Given the description of an element on the screen output the (x, y) to click on. 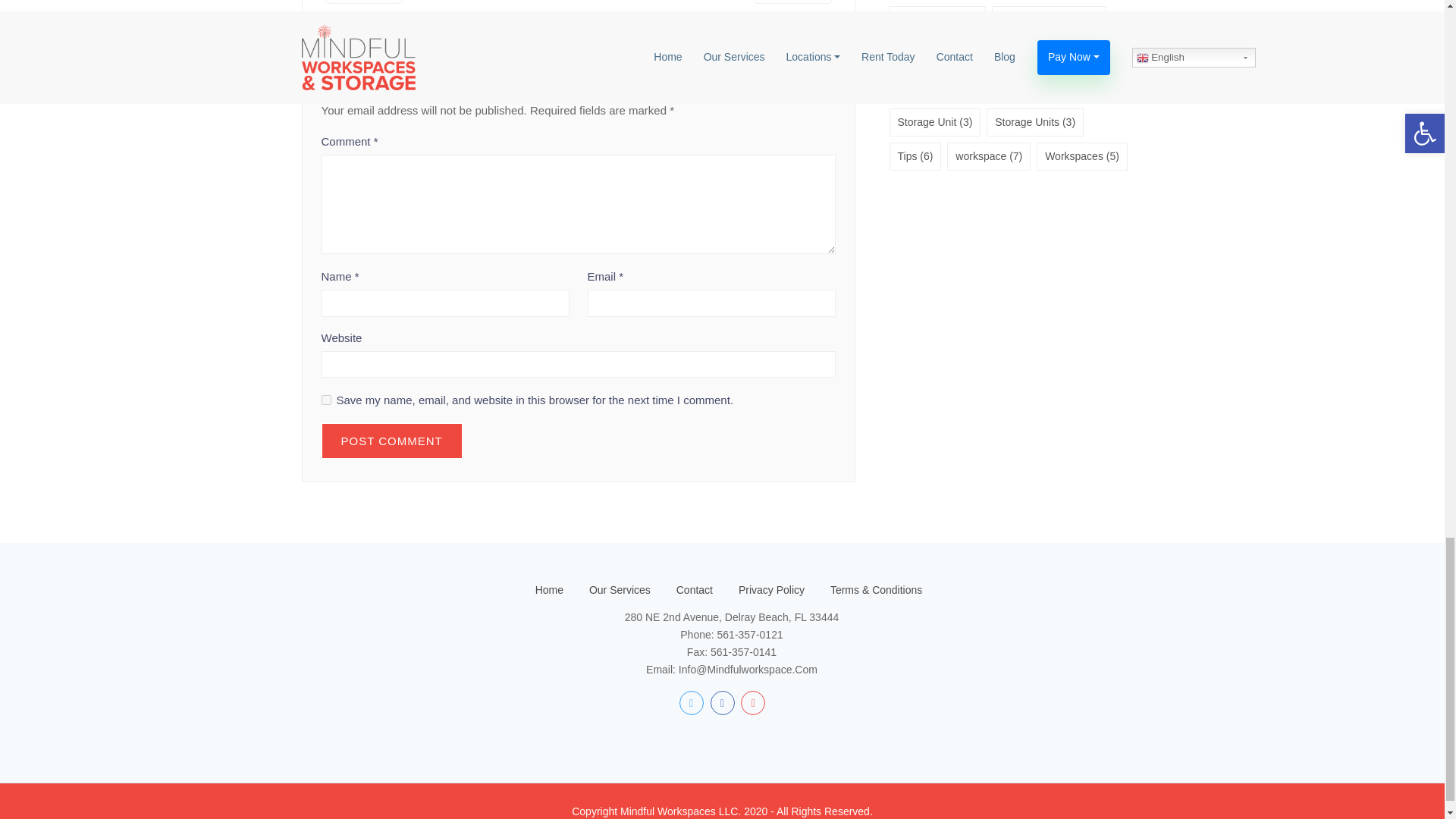
Post Comment (392, 440)
yes (326, 399)
